Given the description of an element on the screen output the (x, y) to click on. 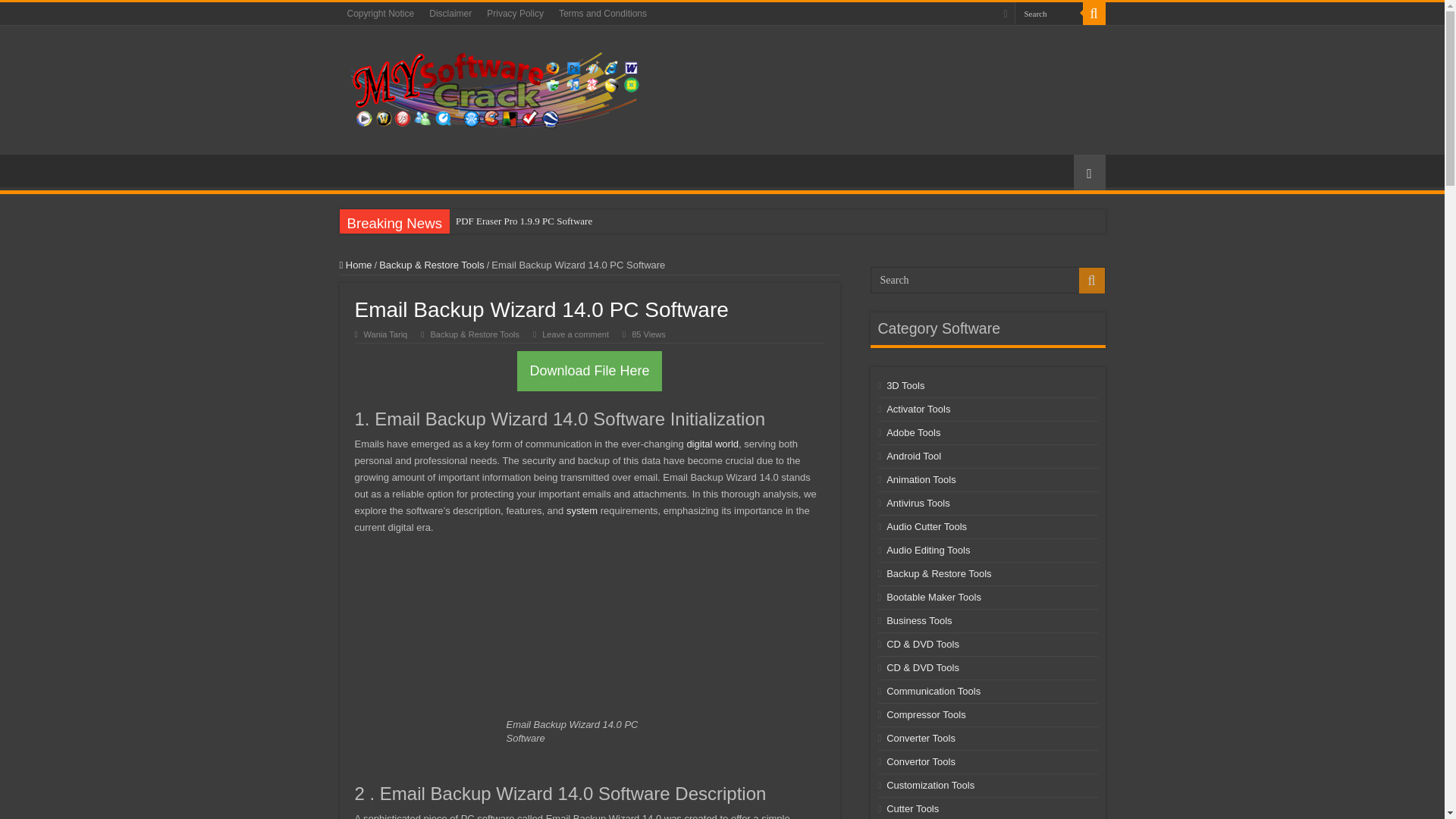
Copyright Notice (380, 13)
Search (1048, 13)
Latest Software With Crack Free (501, 86)
Search (1094, 13)
Search (1048, 13)
Disclaimer (450, 13)
Download File Here (588, 371)
PDF Eraser Pro 1.9.9 PC Software (557, 221)
Leave a comment (574, 334)
system (581, 510)
